Given the description of an element on the screen output the (x, y) to click on. 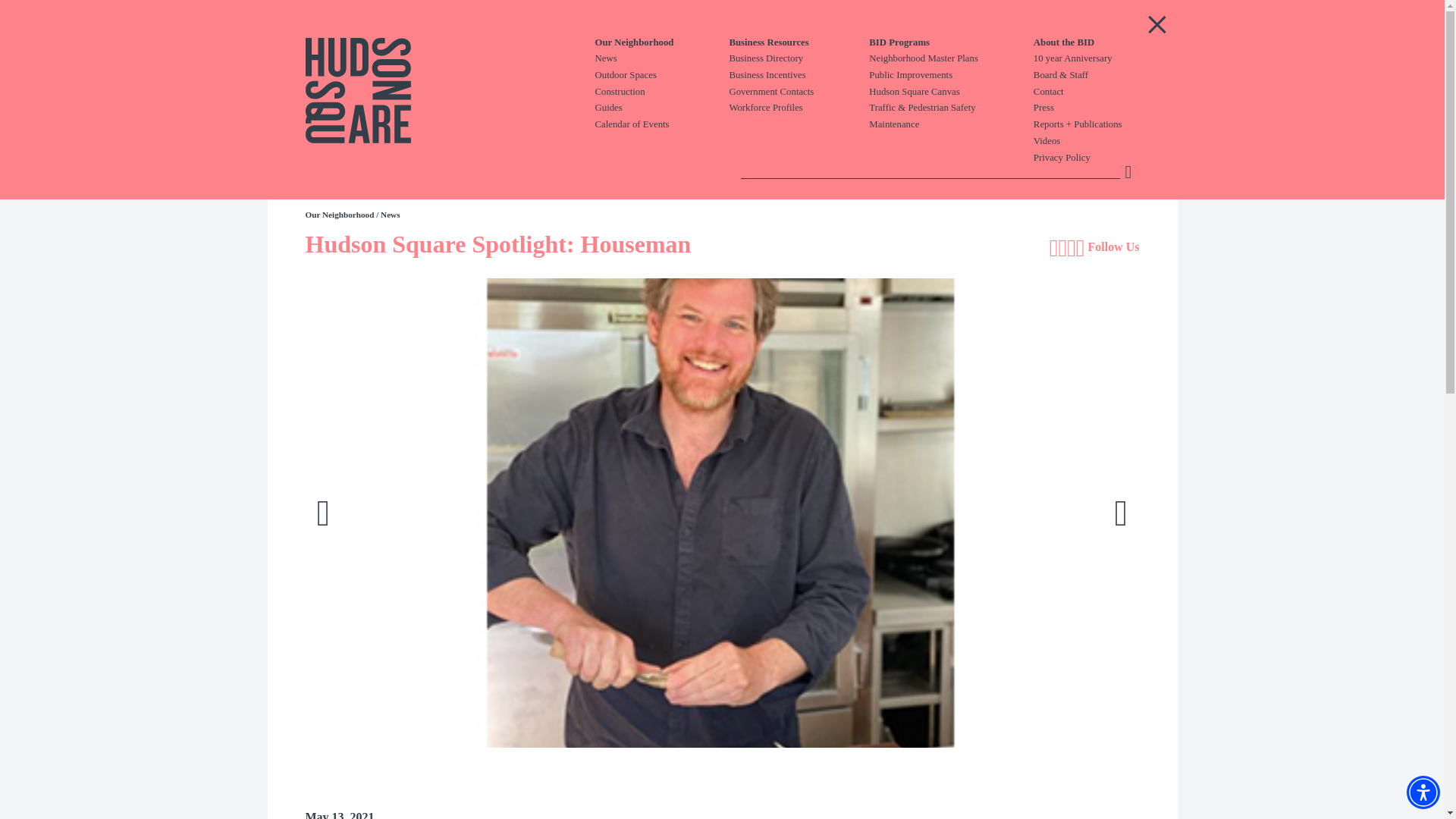
About the BID (1105, 42)
Hudson Square Canvas (951, 92)
Workforce Profiles (799, 108)
Maintenance (951, 124)
Hudson Square (418, 90)
Hide Main Menu (1155, 23)
Business Incentives (799, 75)
Construction (661, 92)
Public Improvements (951, 75)
Accessibility Menu (1422, 792)
Privacy Policy (1105, 158)
Business Resources (799, 42)
Business Directory (799, 59)
Main Menu (1155, 23)
Government Contacts (799, 92)
